Given the description of an element on the screen output the (x, y) to click on. 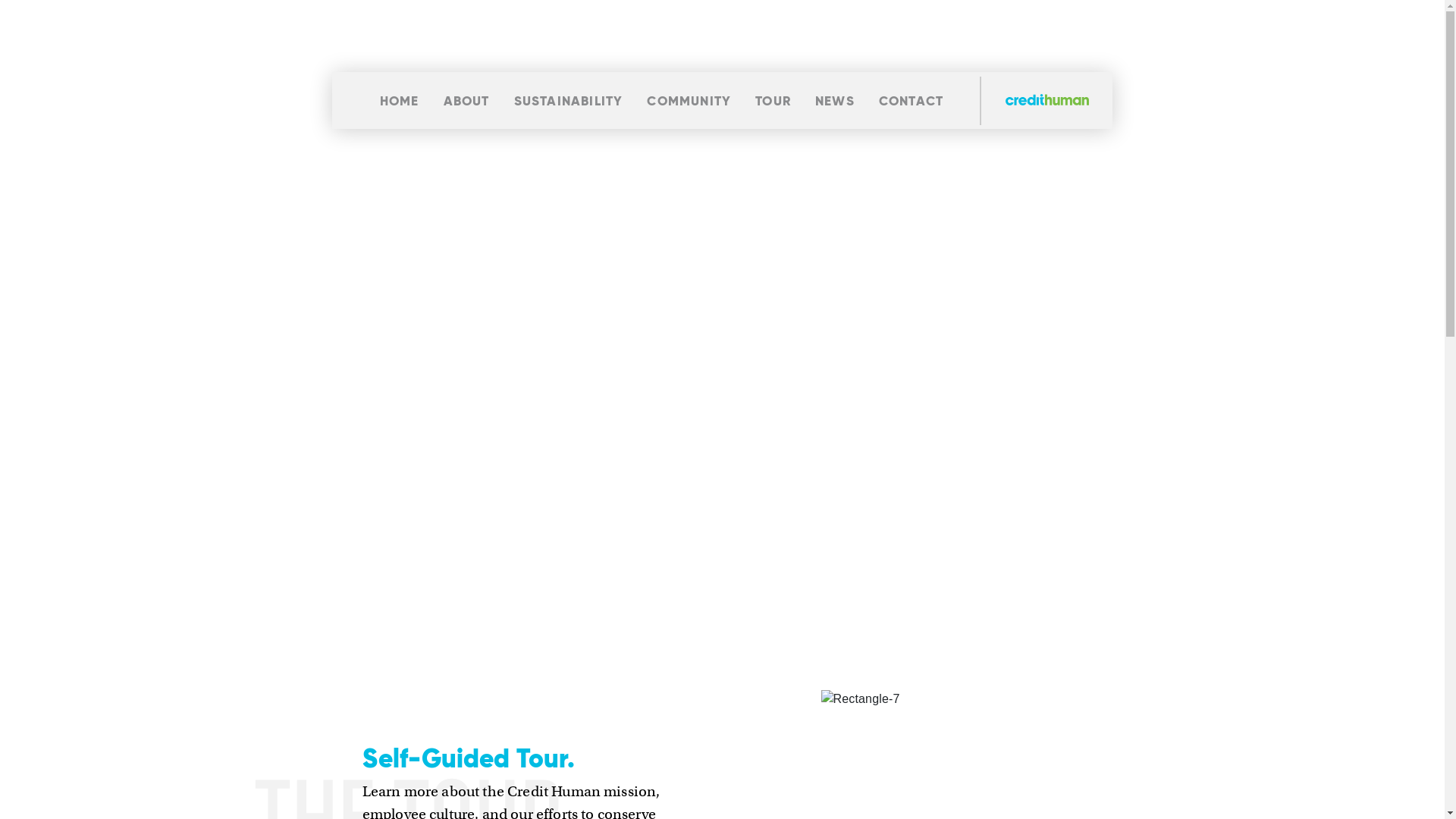
ABOUT Element type: text (466, 100)
COMMUNITY Element type: text (688, 100)
HOME Element type: text (399, 100)
NEWS Element type: text (834, 100)
CONTACT Element type: text (910, 100)
SUSTAINABILITY Element type: text (568, 100)
TOUR Element type: text (773, 100)
Credit Human Logo Element type: hover (1046, 100)
